Given the description of an element on the screen output the (x, y) to click on. 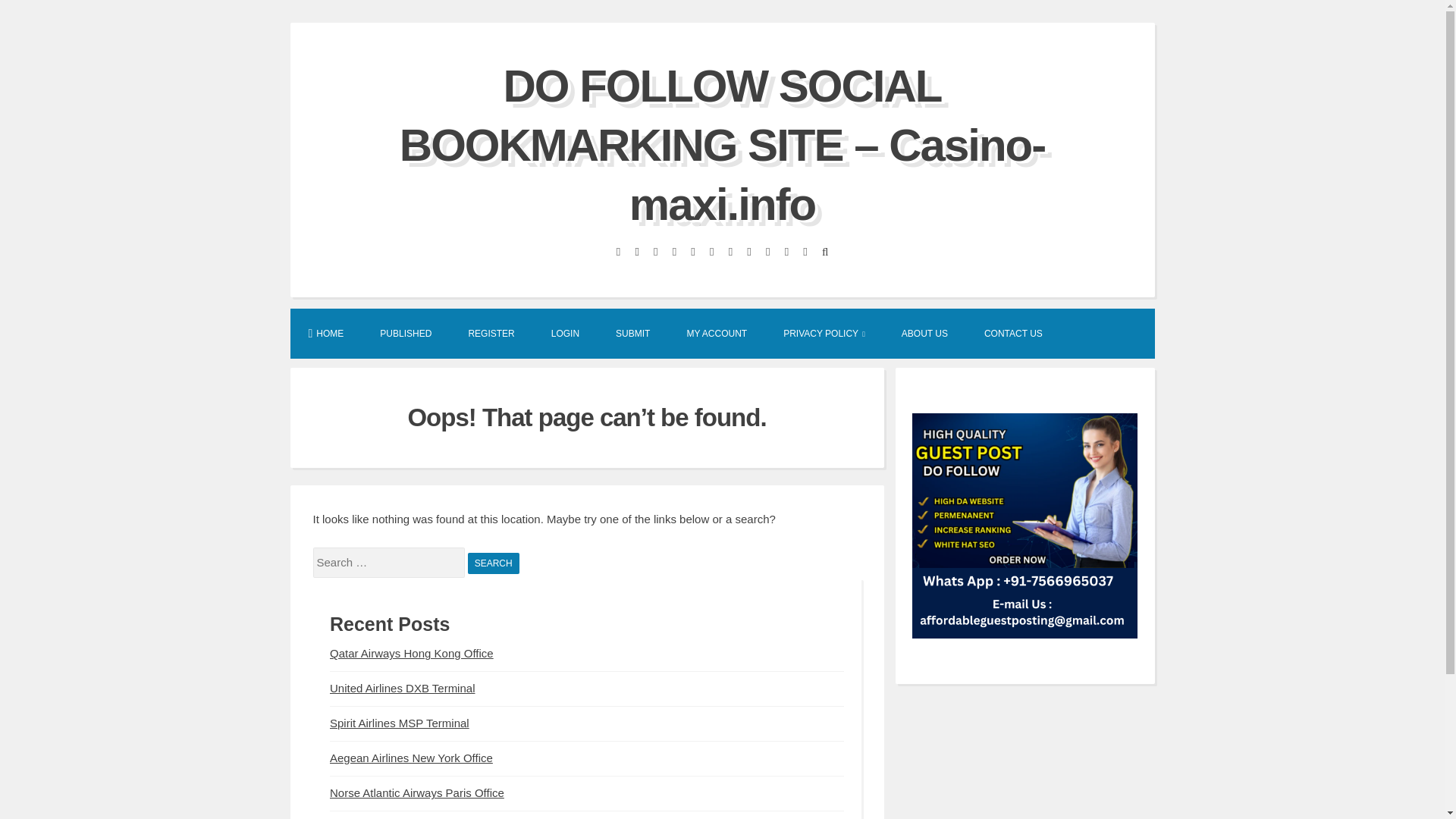
United Airlines DXB Terminal (402, 687)
Search (493, 563)
LOGIN (564, 332)
PUBLISHED (405, 332)
Search (493, 563)
CONTACT US (1013, 332)
REGISTER (490, 332)
PRIVACY POLICY (824, 332)
Norse Atlantic Airways Paris Office (416, 792)
